Given the description of an element on the screen output the (x, y) to click on. 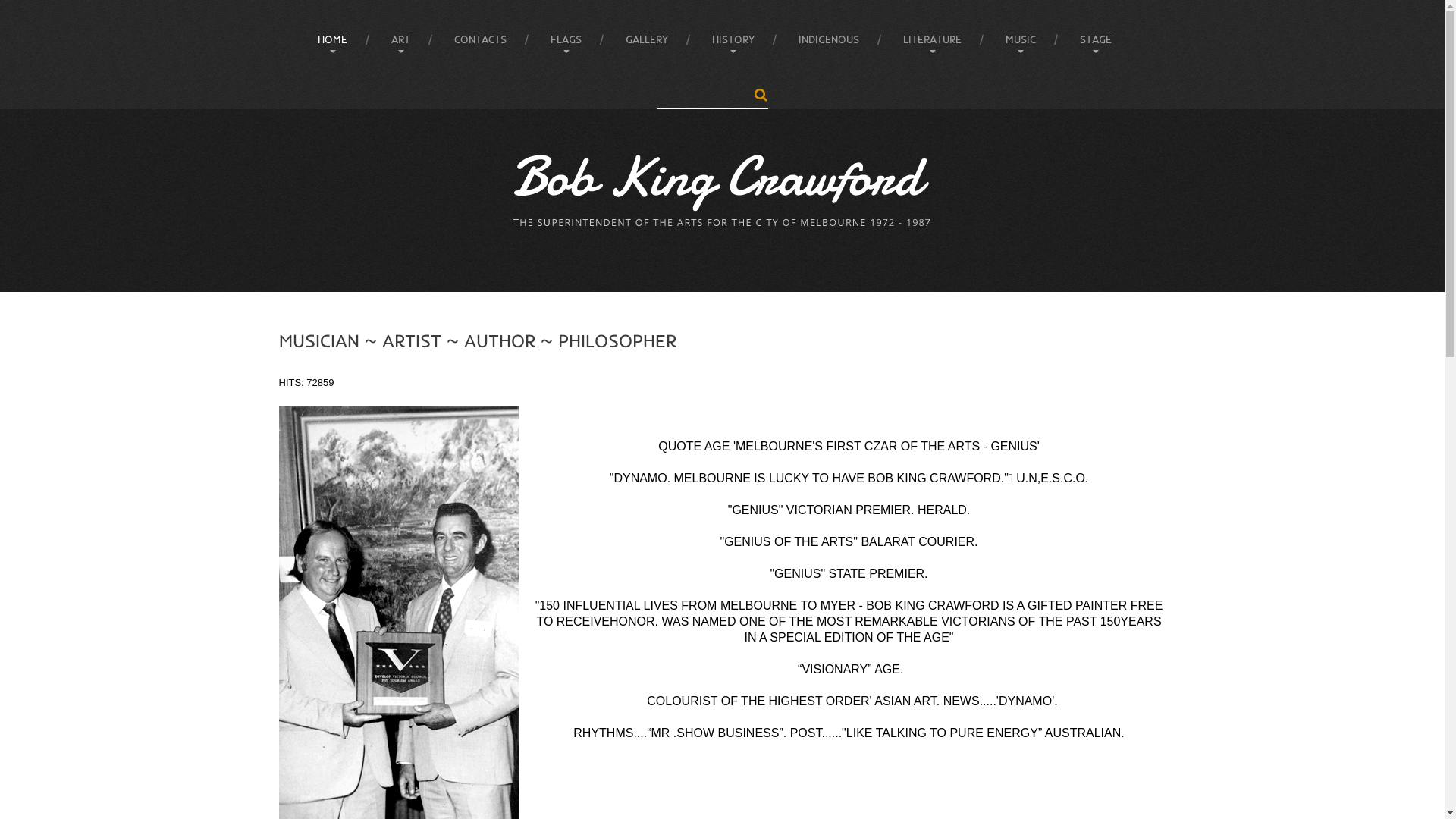
INDIGENOUS Element type: text (828, 39)
ART Element type: text (400, 39)
MUSIC Element type: text (1020, 39)
HISTORY Element type: text (733, 39)
Search Element type: text (759, 94)
FLAGS Element type: text (565, 39)
LITERATURE Element type: text (932, 39)
HOME Element type: text (332, 39)
GALLERY Element type: text (646, 39)
STAGE Element type: text (1095, 39)
CONTACTS Element type: text (480, 39)
